Given the description of an element on the screen output the (x, y) to click on. 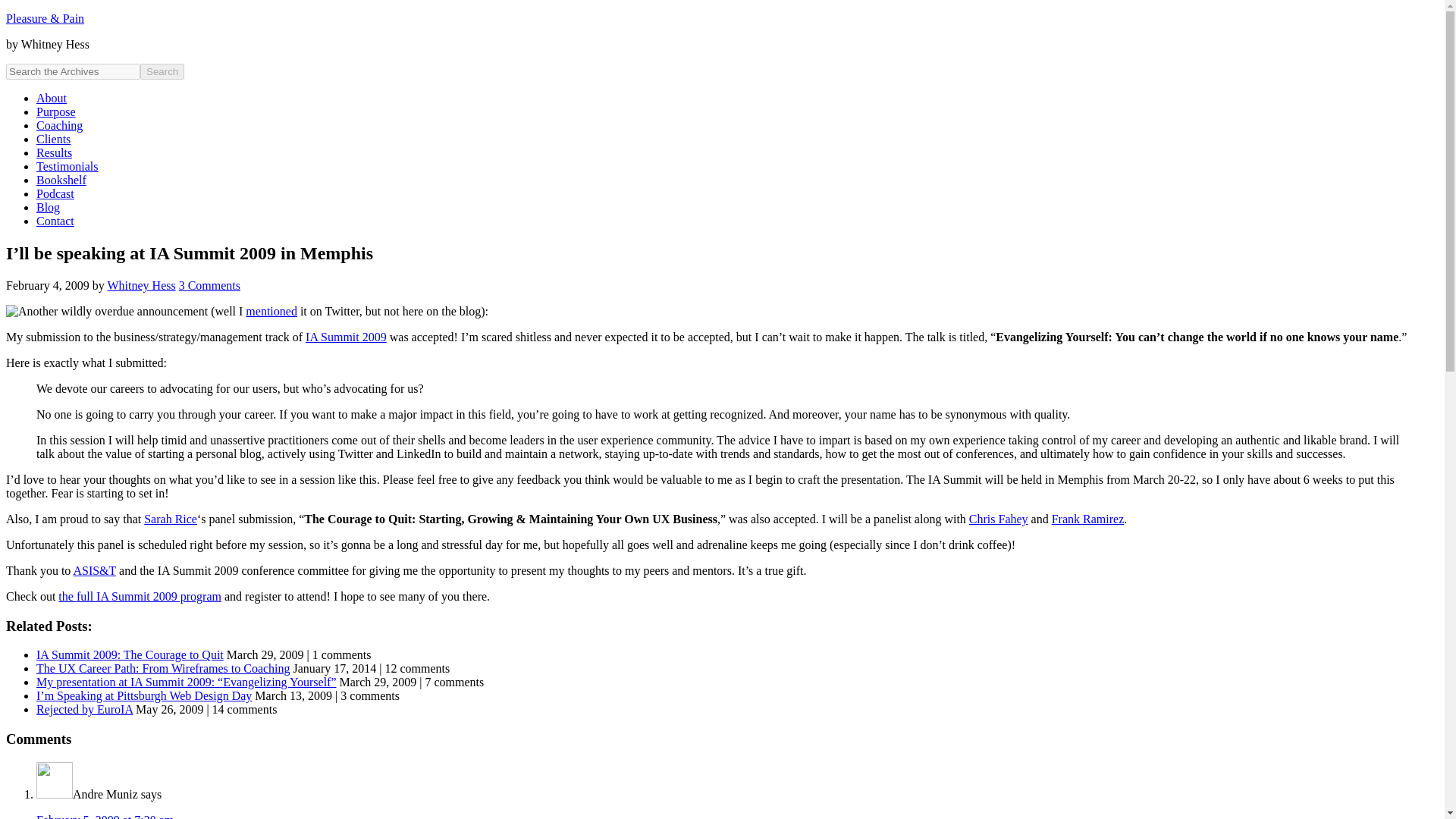
About (51, 97)
Search (161, 71)
Search (161, 71)
Coaching (59, 124)
March 29, 2009 (130, 654)
February 5, 2009 at 7:20 am (104, 816)
mentioned (271, 310)
Clients (52, 138)
Sarah Rice (170, 518)
Bookshelf (60, 179)
